Given the description of an element on the screen output the (x, y) to click on. 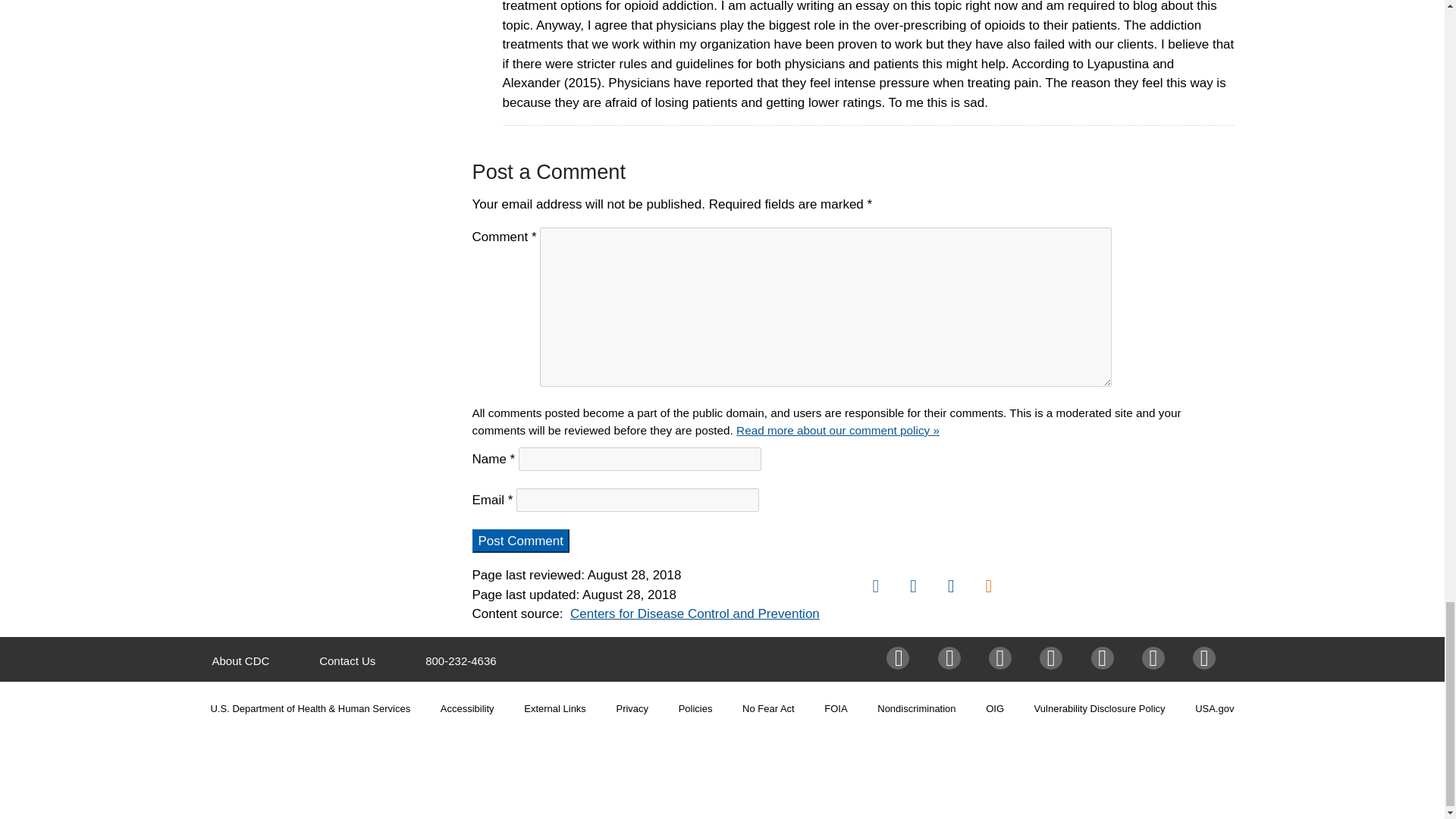
Post Comment (520, 541)
Centers for Disease Control and Prevention (694, 613)
